Given the description of an element on the screen output the (x, y) to click on. 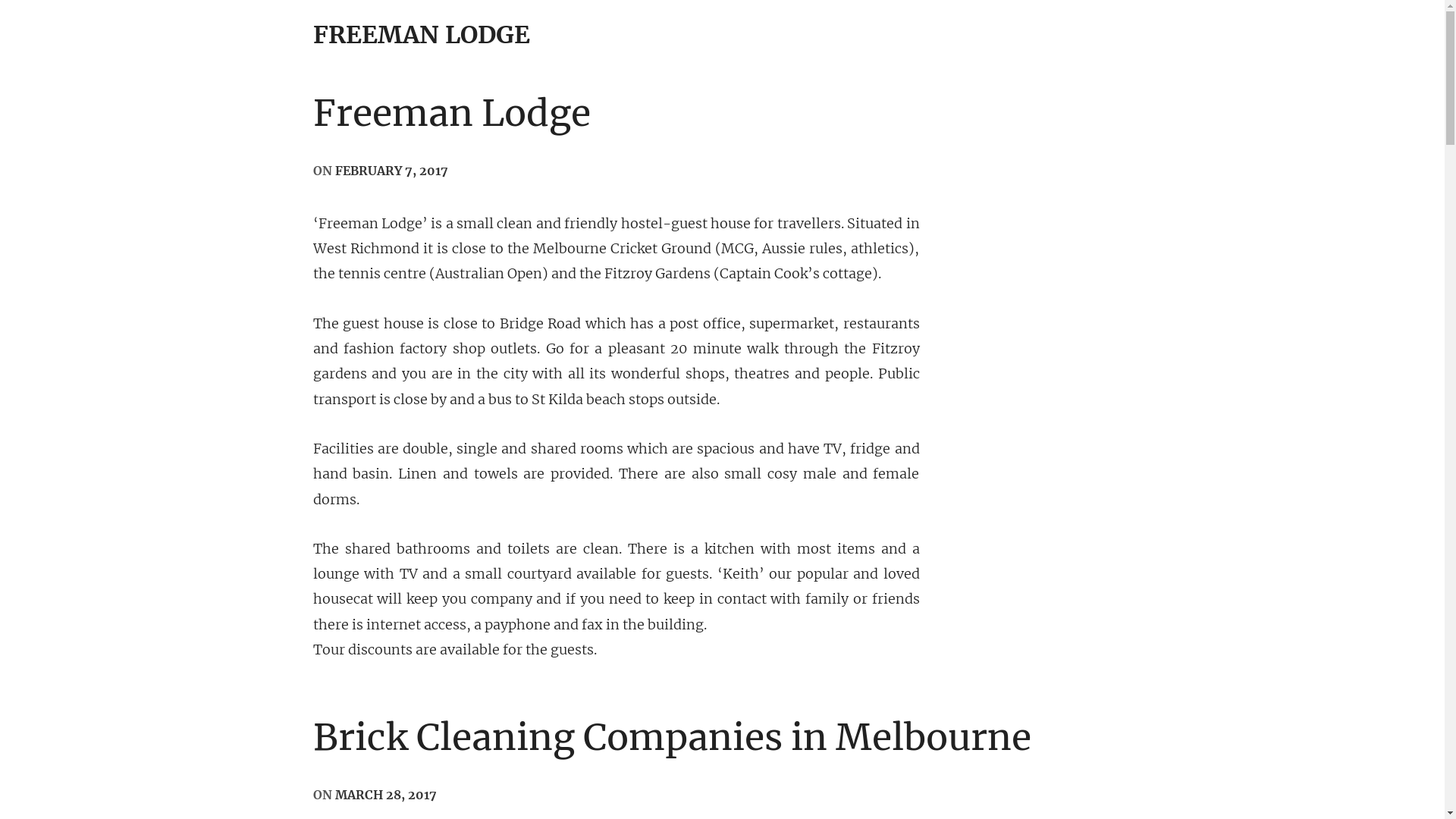
Freeman Lodge Element type: text (450, 114)
Brick Cleaning Companies in Melbourne Element type: text (671, 738)
FEBRUARY 7, 2017 Element type: text (391, 172)
FREEMAN LODGE Element type: text (420, 34)
MARCH 28, 2017 Element type: text (385, 796)
